Given the description of an element on the screen output the (x, y) to click on. 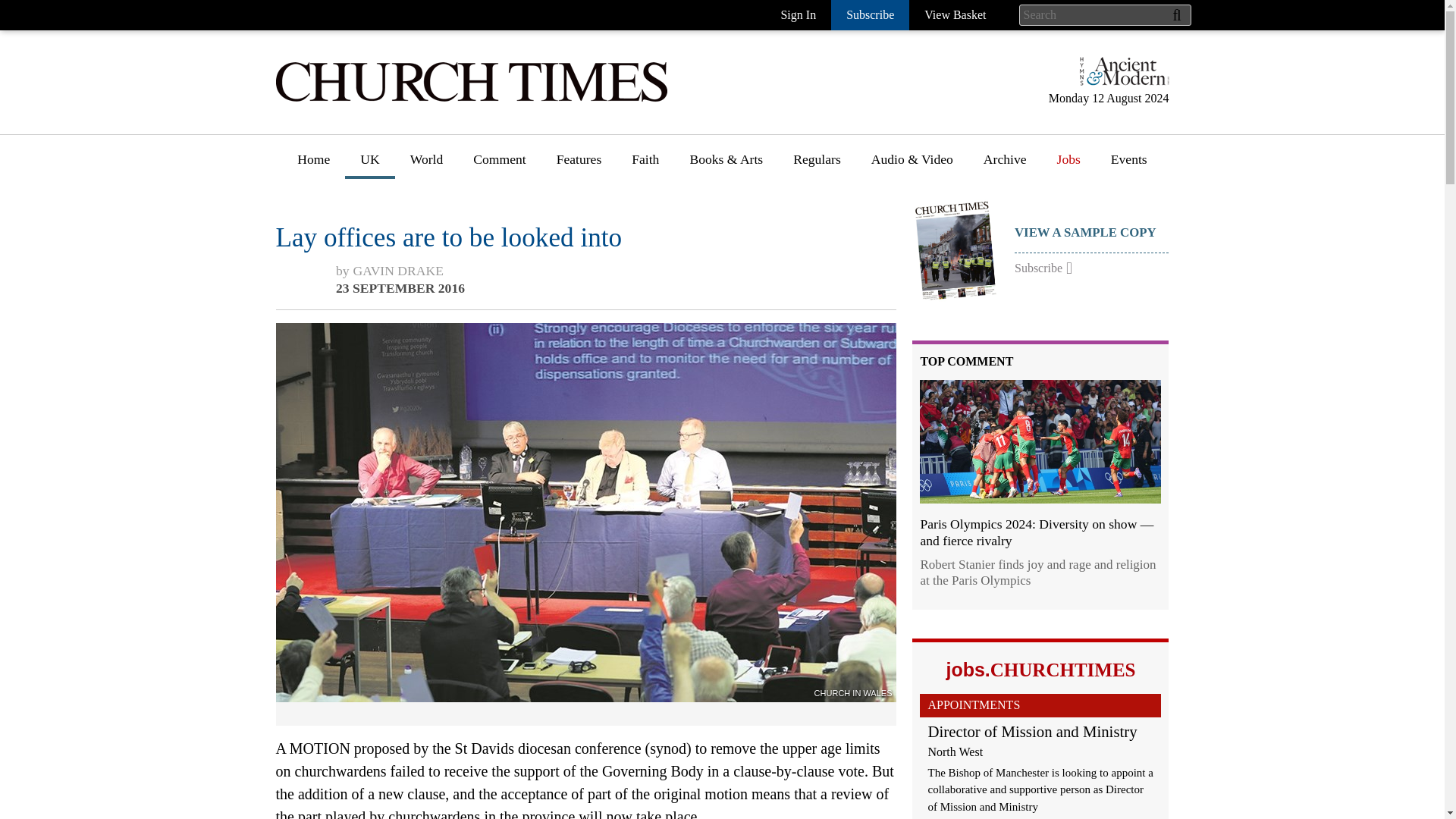
Faith features (668, 232)
Columnists (504, 260)
New titles (716, 232)
Subscribe (869, 15)
TV (698, 399)
Home (313, 164)
Crossword (823, 287)
Book reviews (726, 204)
Book club (717, 260)
Features (579, 164)
